Given the description of an element on the screen output the (x, y) to click on. 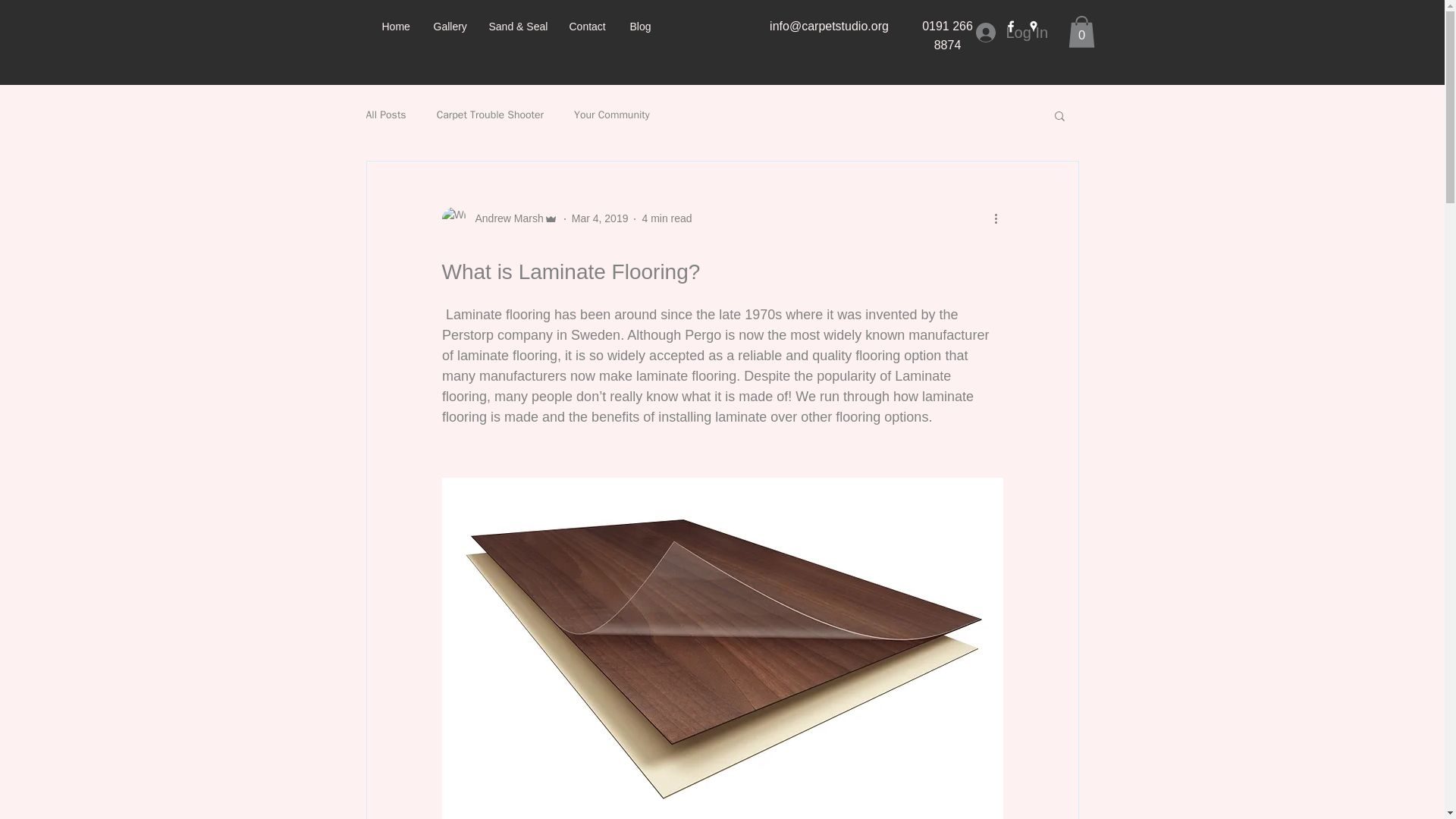
4 min read (666, 218)
Your Community (611, 115)
Log In (1009, 32)
Carpet Trouble Shooter (489, 115)
All Posts (385, 115)
Gallery (449, 26)
Andrew Marsh (504, 218)
Andrew Marsh (499, 218)
Mar 4, 2019 (600, 218)
Home (395, 26)
Blog (640, 26)
Contact (587, 26)
